Given the description of an element on the screen output the (x, y) to click on. 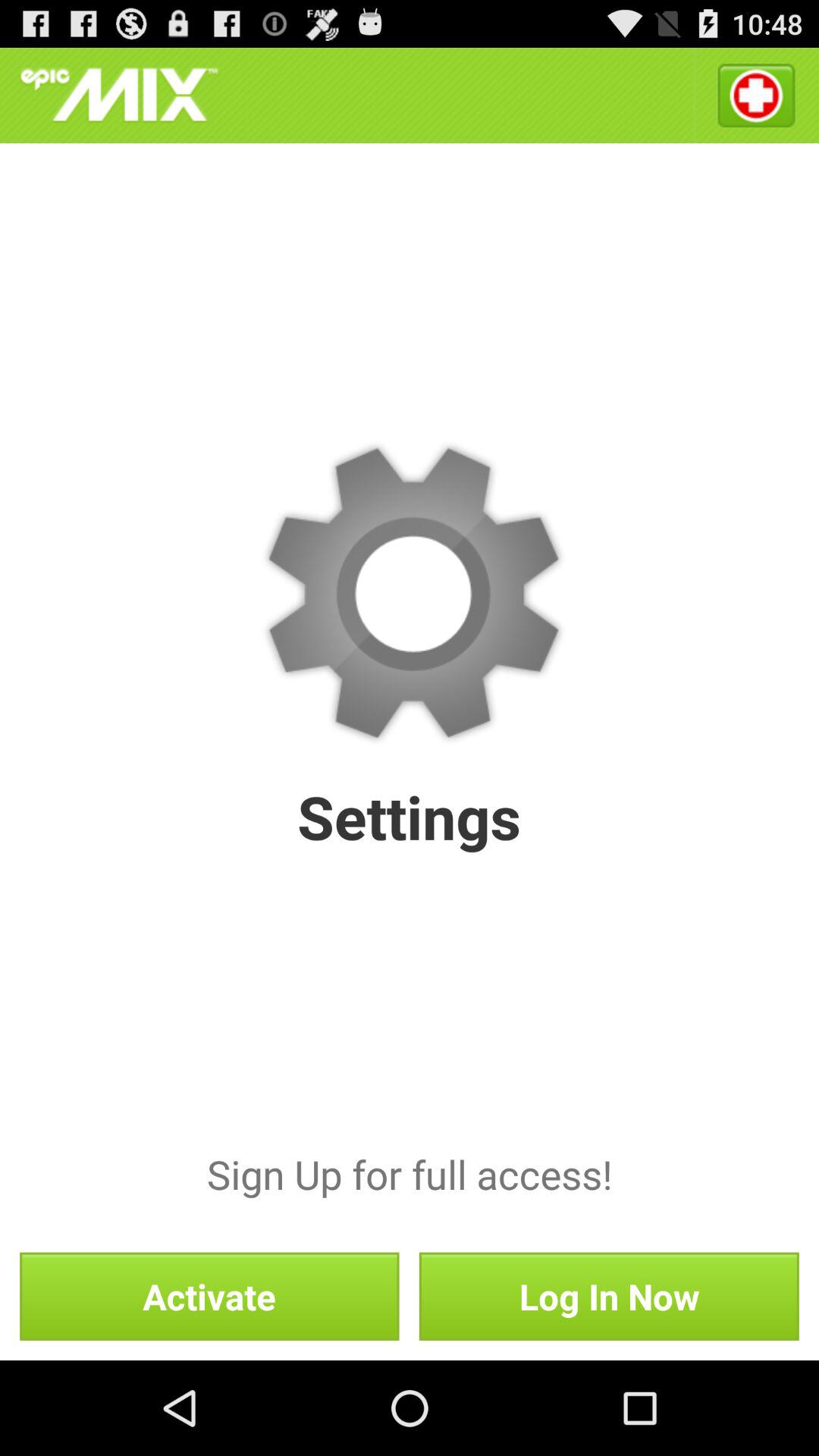
turn off the icon next to the activate (609, 1296)
